Given the description of an element on the screen output the (x, y) to click on. 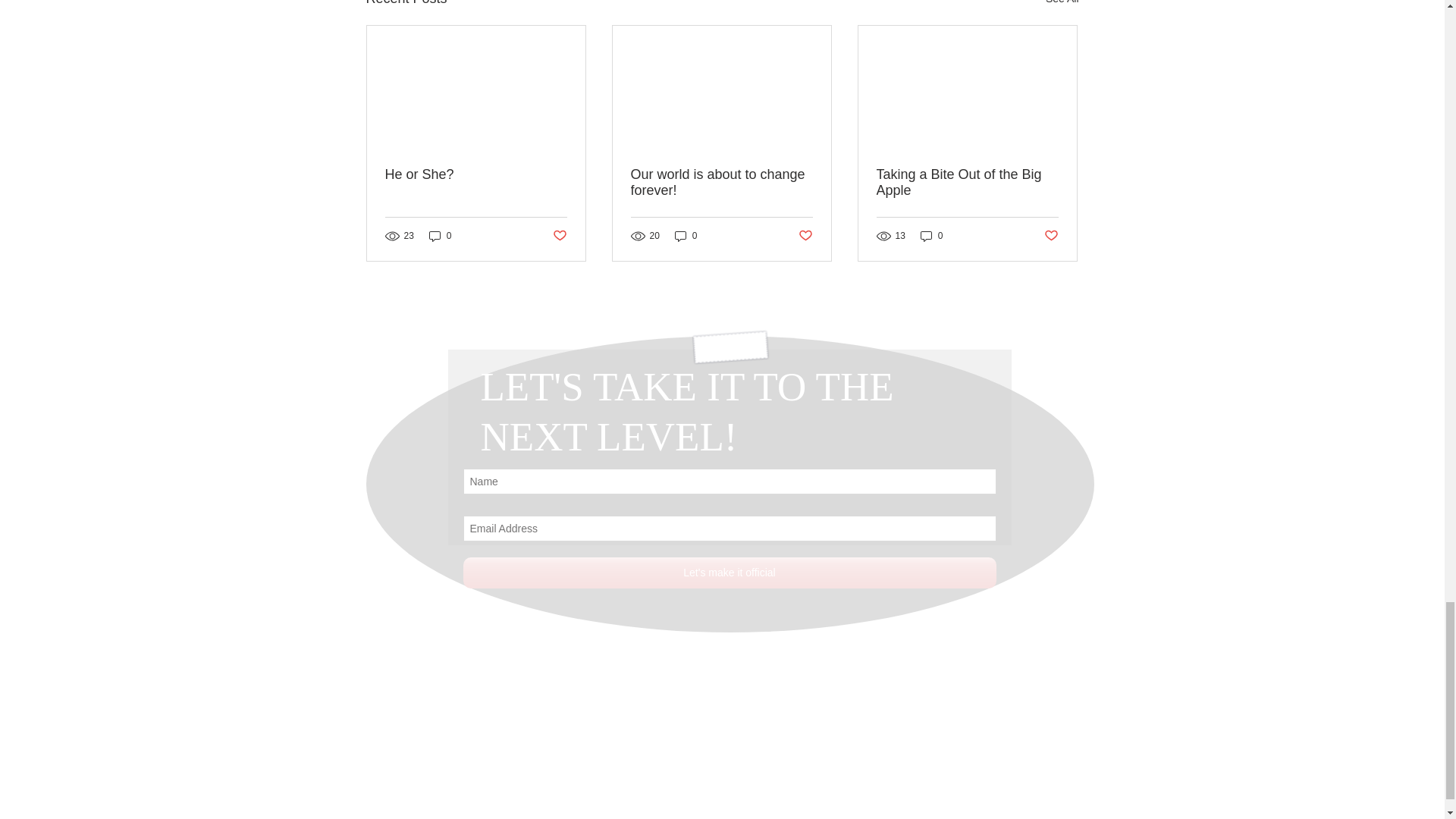
Post not marked as liked (558, 236)
Our world is about to change forever! (721, 183)
0 (685, 236)
0 (440, 236)
See All (1061, 4)
He or She? (476, 174)
